Given the description of an element on the screen output the (x, y) to click on. 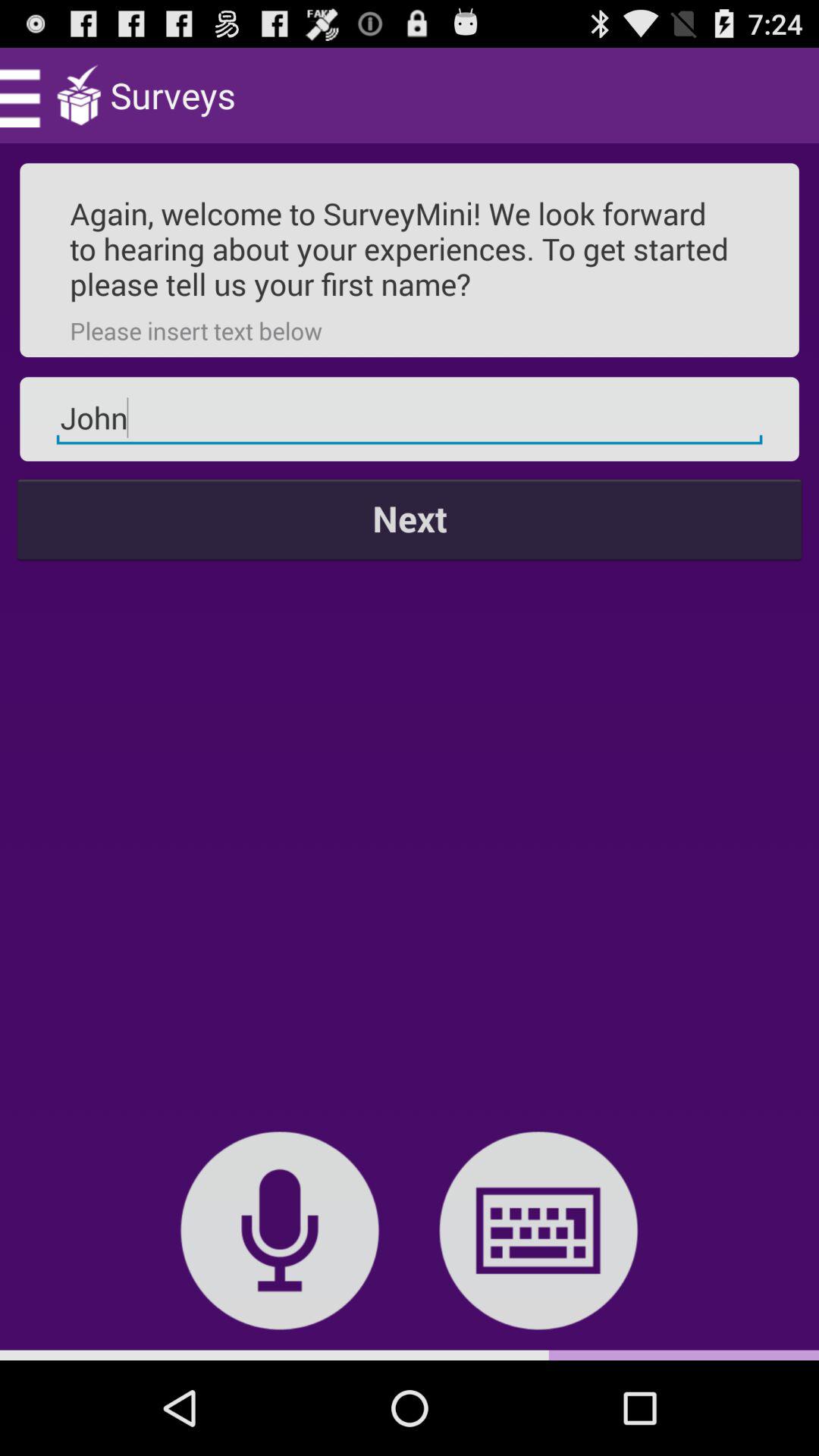
press the item above the next (409, 419)
